Given the description of an element on the screen output the (x, y) to click on. 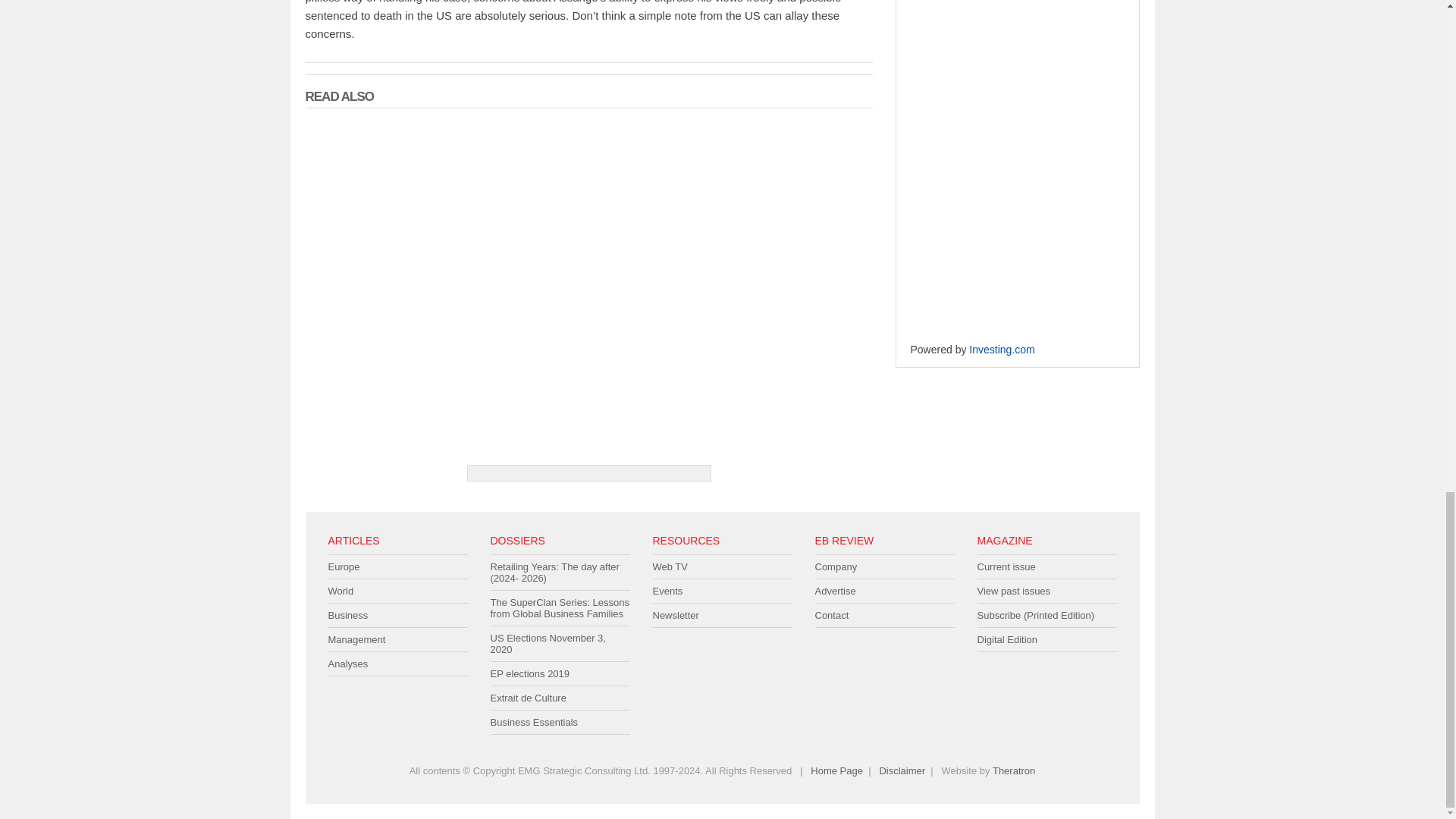
Investing.com (1001, 349)
World (397, 591)
Europe (397, 567)
